Given the description of an element on the screen output the (x, y) to click on. 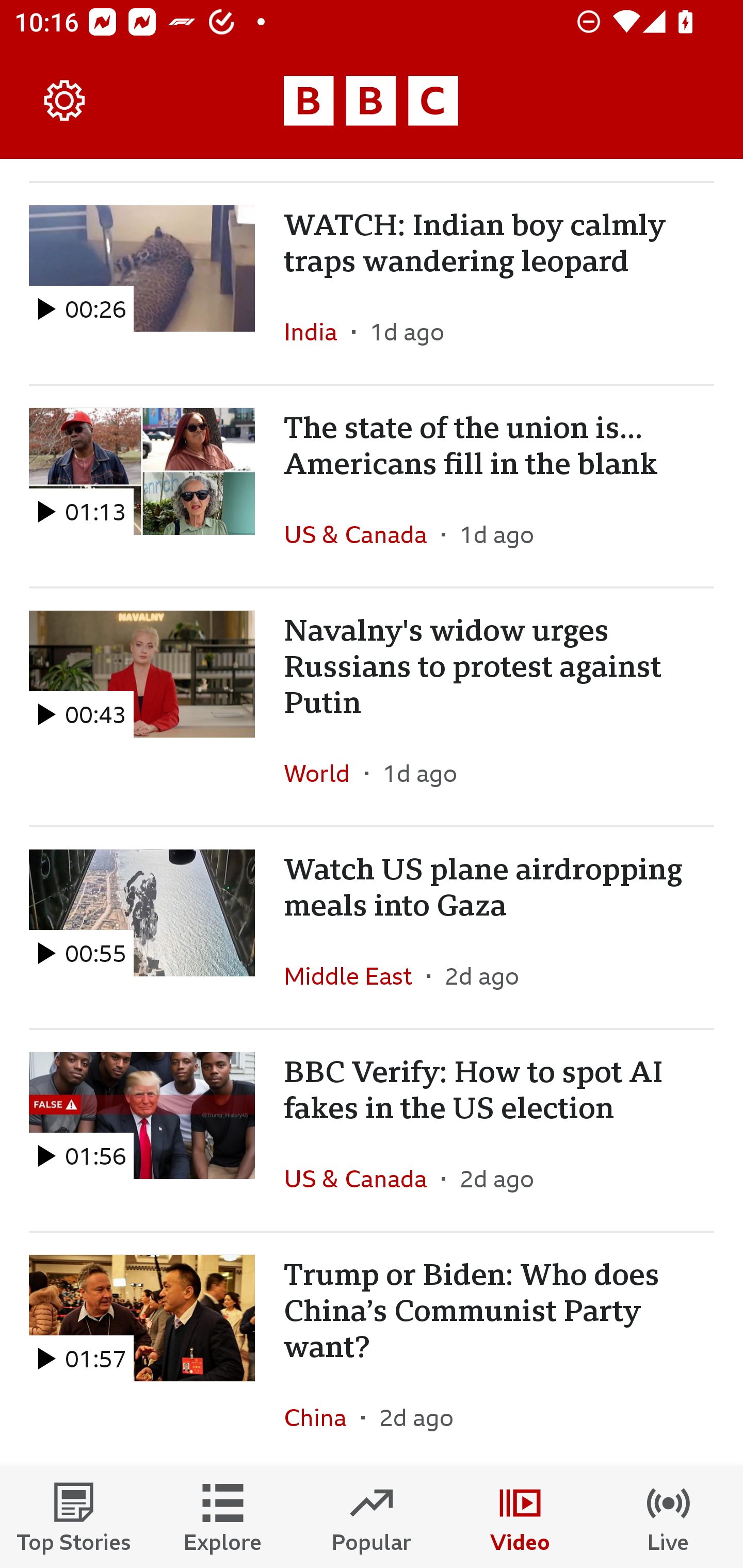
Settings (64, 100)
India In the section India (317, 331)
US & Canada In the section US & Canada (362, 534)
World In the section World (323, 772)
Middle East In the section Middle East (354, 975)
US & Canada In the section US & Canada (362, 1177)
China In the section China (322, 1416)
Top Stories (74, 1517)
Explore (222, 1517)
Popular (371, 1517)
Live (668, 1517)
